Given the description of an element on the screen output the (x, y) to click on. 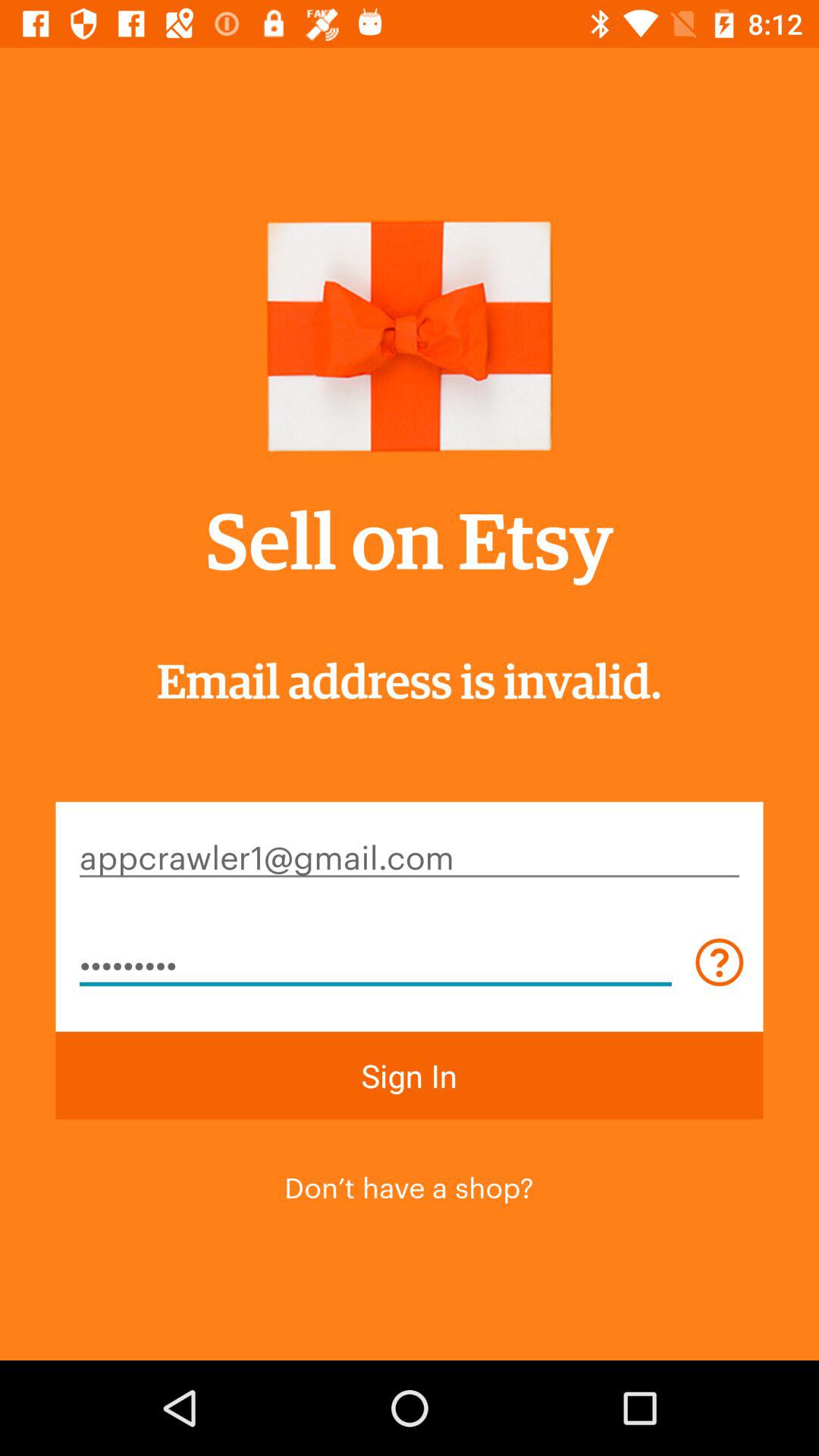
press icon above sign in icon (375, 961)
